Given the description of an element on the screen output the (x, y) to click on. 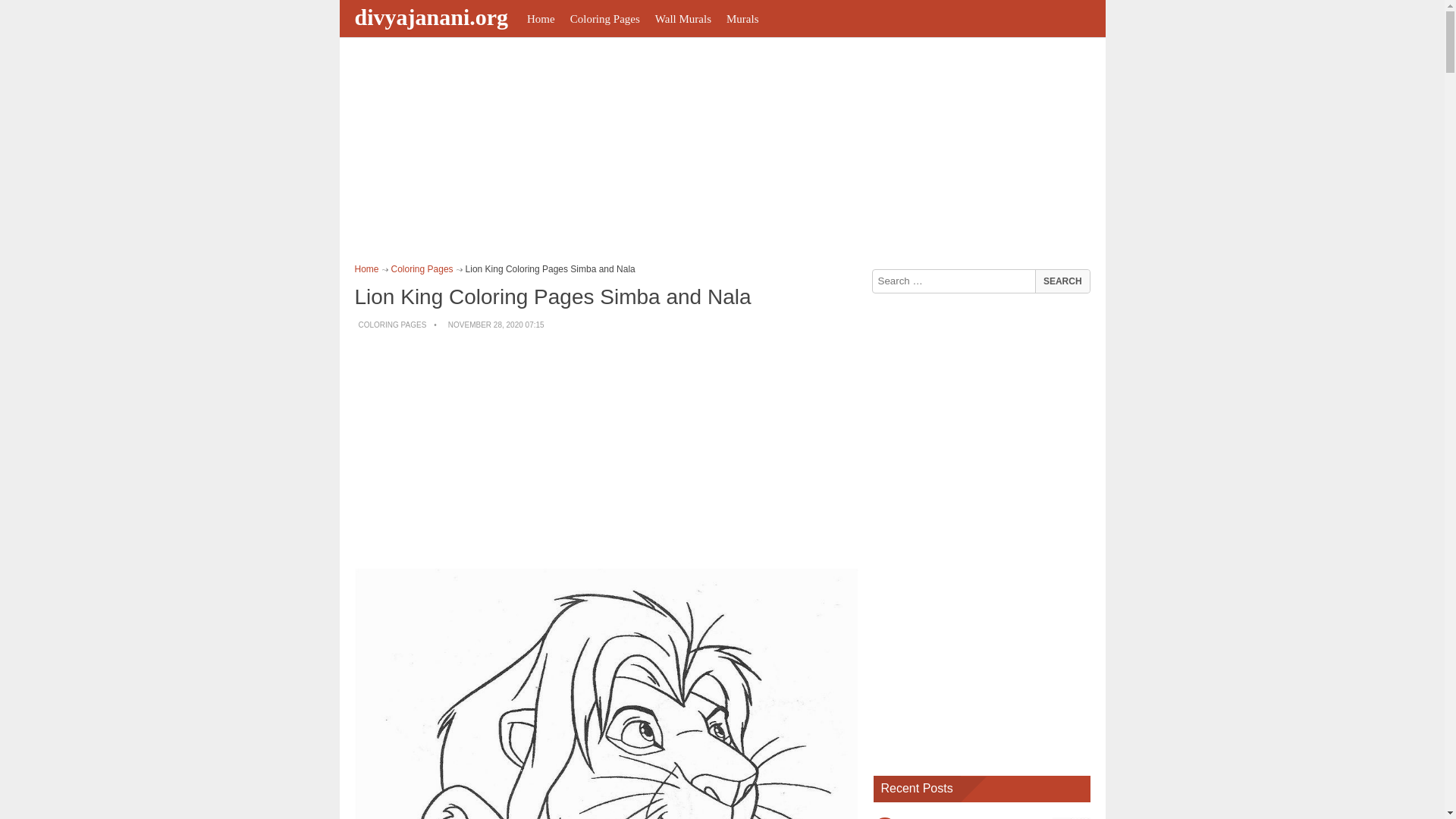
Home (366, 268)
Coloring Pages (421, 268)
divyajanani.org (433, 16)
Search (1062, 281)
COLORING PAGES (392, 325)
Home (540, 18)
Search (1062, 281)
Advertisement (607, 449)
Murals (743, 18)
Wall Murals (683, 18)
Coloring Pages (604, 18)
